Given the description of an element on the screen output the (x, y) to click on. 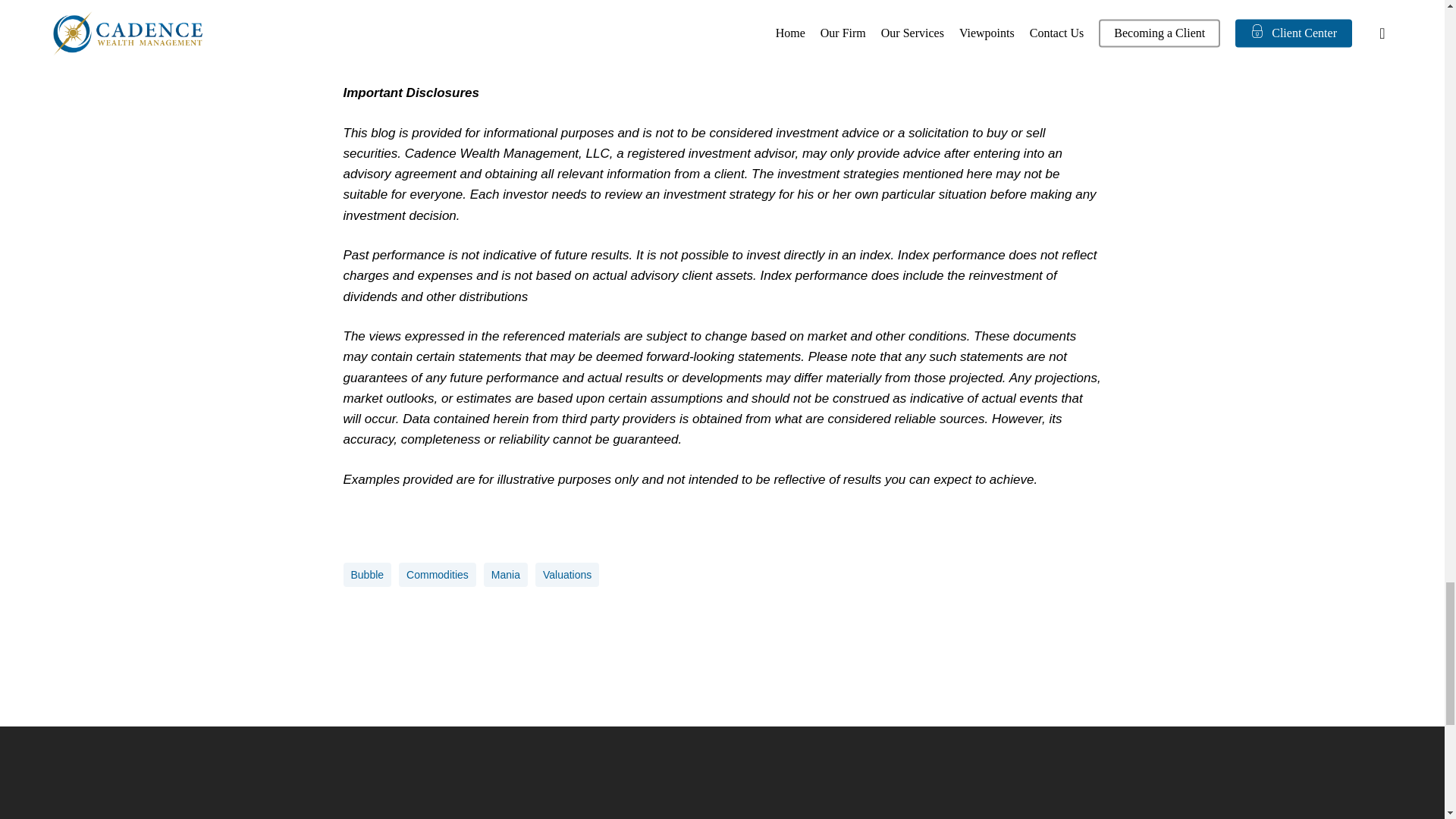
Mania (505, 574)
Valuations (566, 574)
Bubble (366, 574)
Commodities (437, 574)
